Given the description of an element on the screen output the (x, y) to click on. 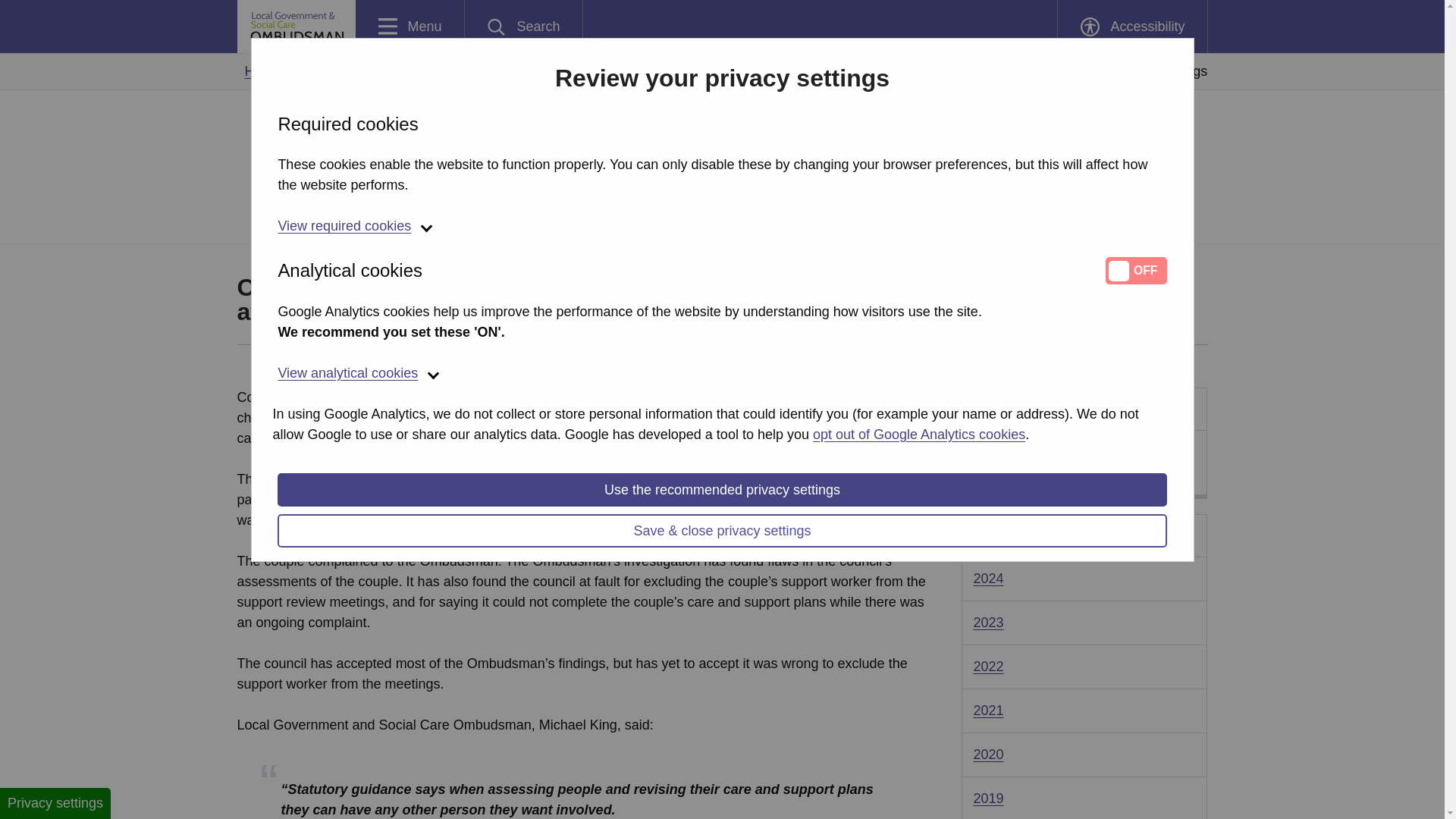
Use the recommended privacy settings (409, 26)
View analytical cookies (523, 26)
opt out of Google Analytics cookies (722, 489)
Accessibility (722, 374)
View required cookies (918, 434)
